Given the description of an element on the screen output the (x, y) to click on. 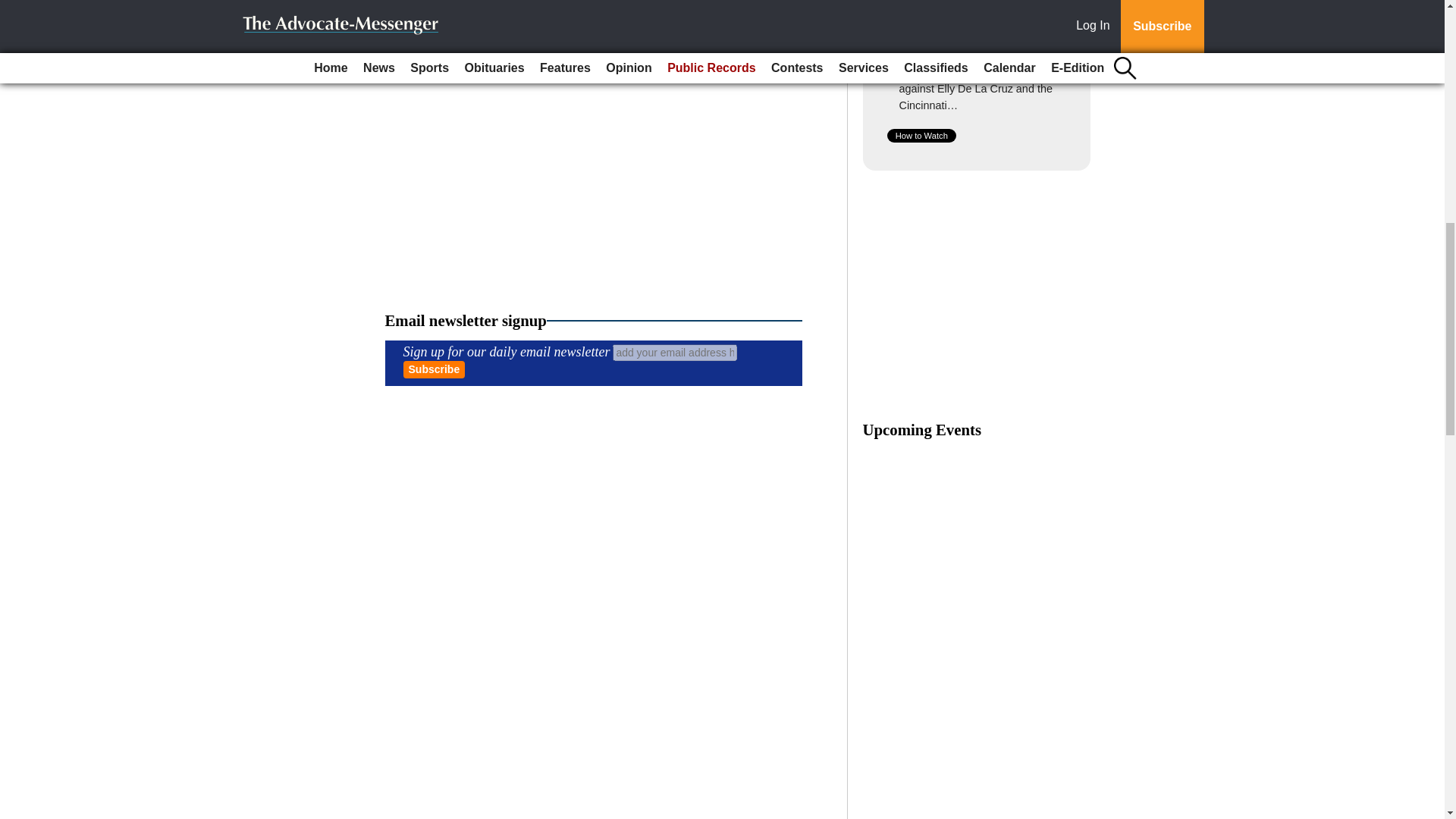
Subscribe (434, 369)
Reds vs. Braves: Betting Preview for July 23 (962, 28)
Subscribe (434, 369)
